Given the description of an element on the screen output the (x, y) to click on. 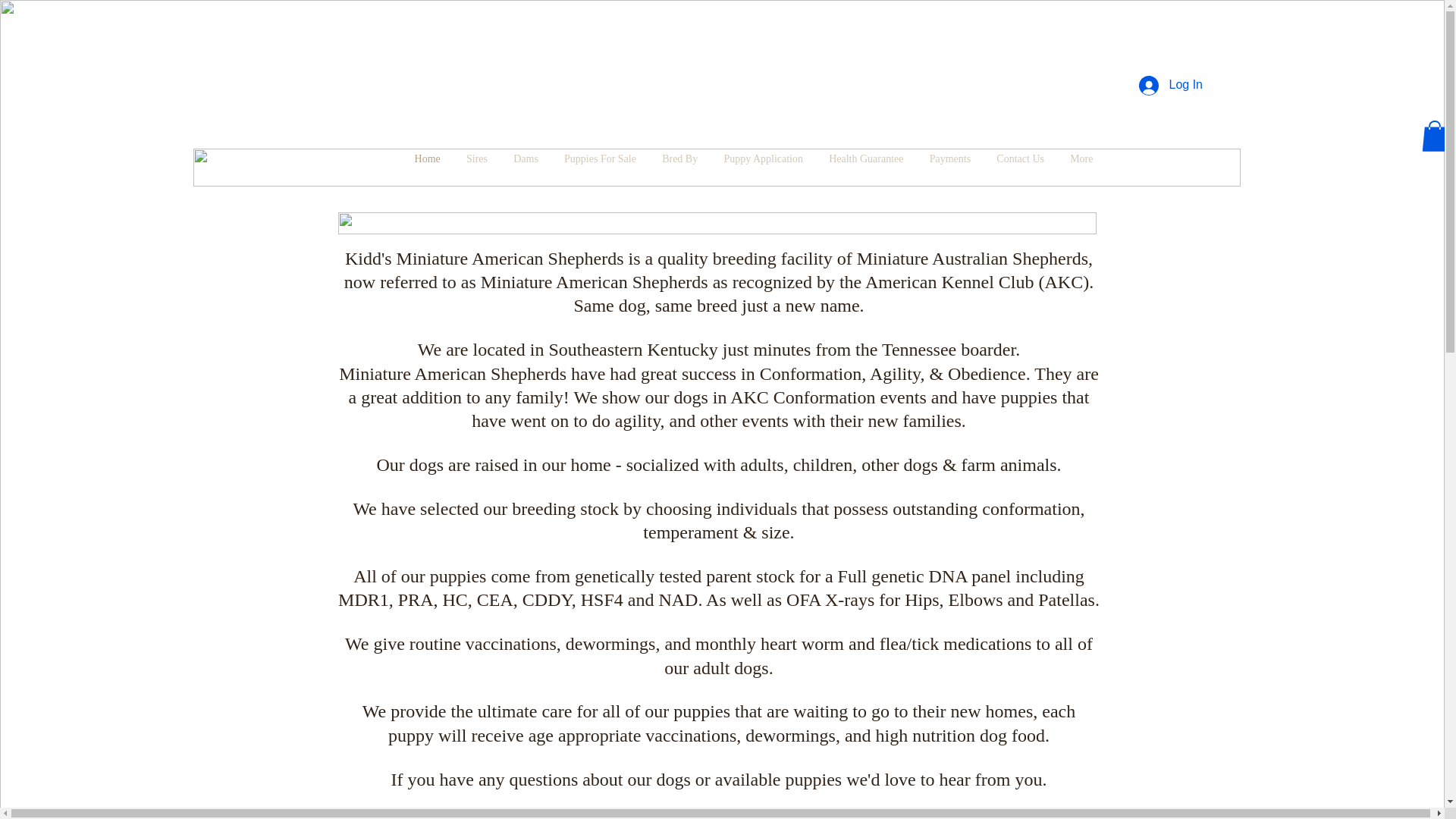
Home (426, 159)
Health Guarantee (866, 159)
Puppy Application (762, 159)
Bred By (679, 159)
Payments (950, 159)
Contact Us (1020, 159)
More (1081, 159)
Puppies For Sale (600, 159)
Sires (476, 159)
Dams (525, 159)
